Given the description of an element on the screen output the (x, y) to click on. 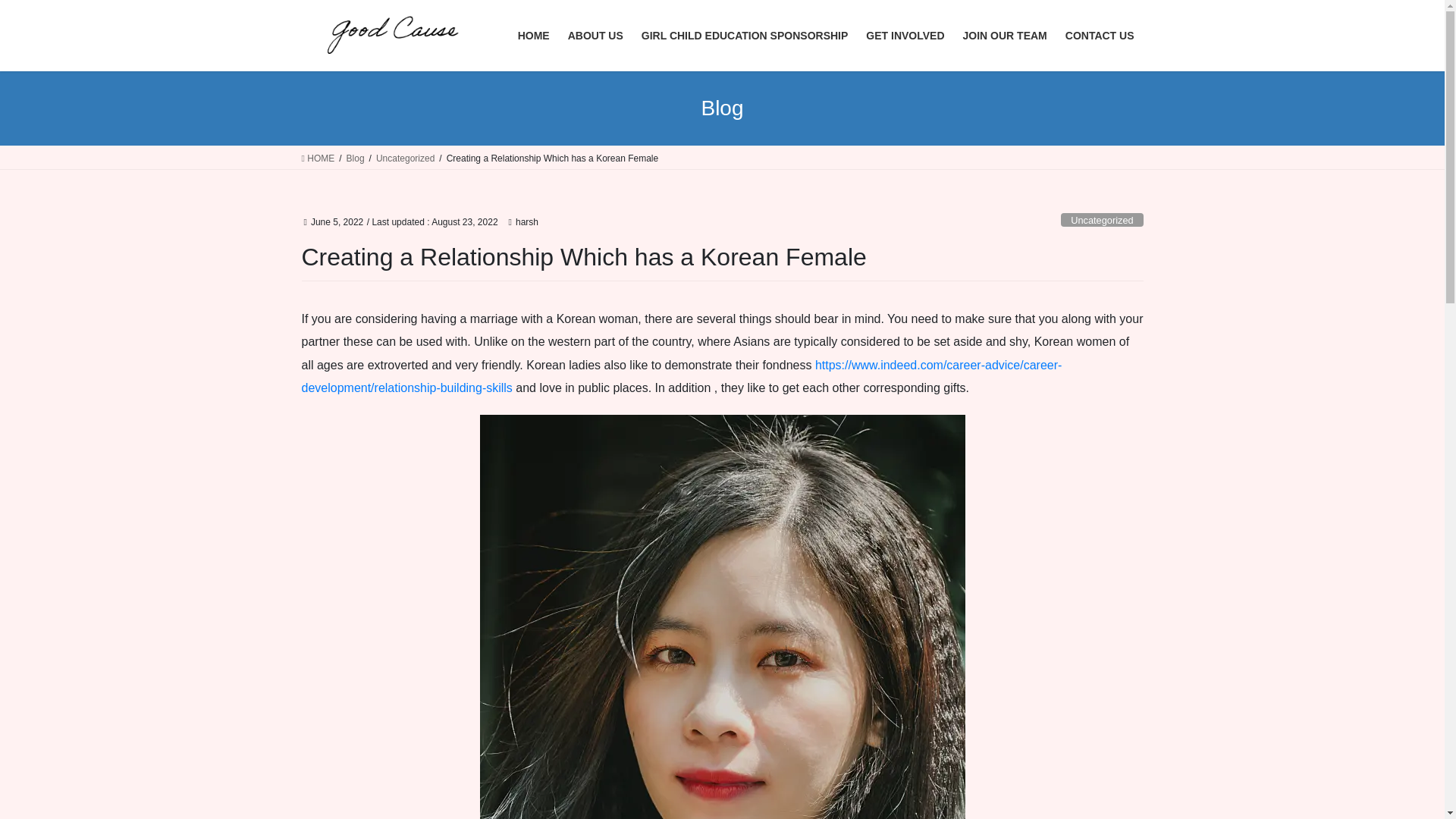
Blog (355, 157)
HOME (533, 36)
JOIN OUR TEAM (1005, 36)
Uncategorized (404, 157)
CONTACT US (1099, 36)
HOME (317, 157)
ABOUT US (595, 36)
Uncategorized (1101, 219)
GIRL CHILD EDUCATION SPONSORSHIP (744, 36)
GET INVOLVED (905, 36)
